Given the description of an element on the screen output the (x, y) to click on. 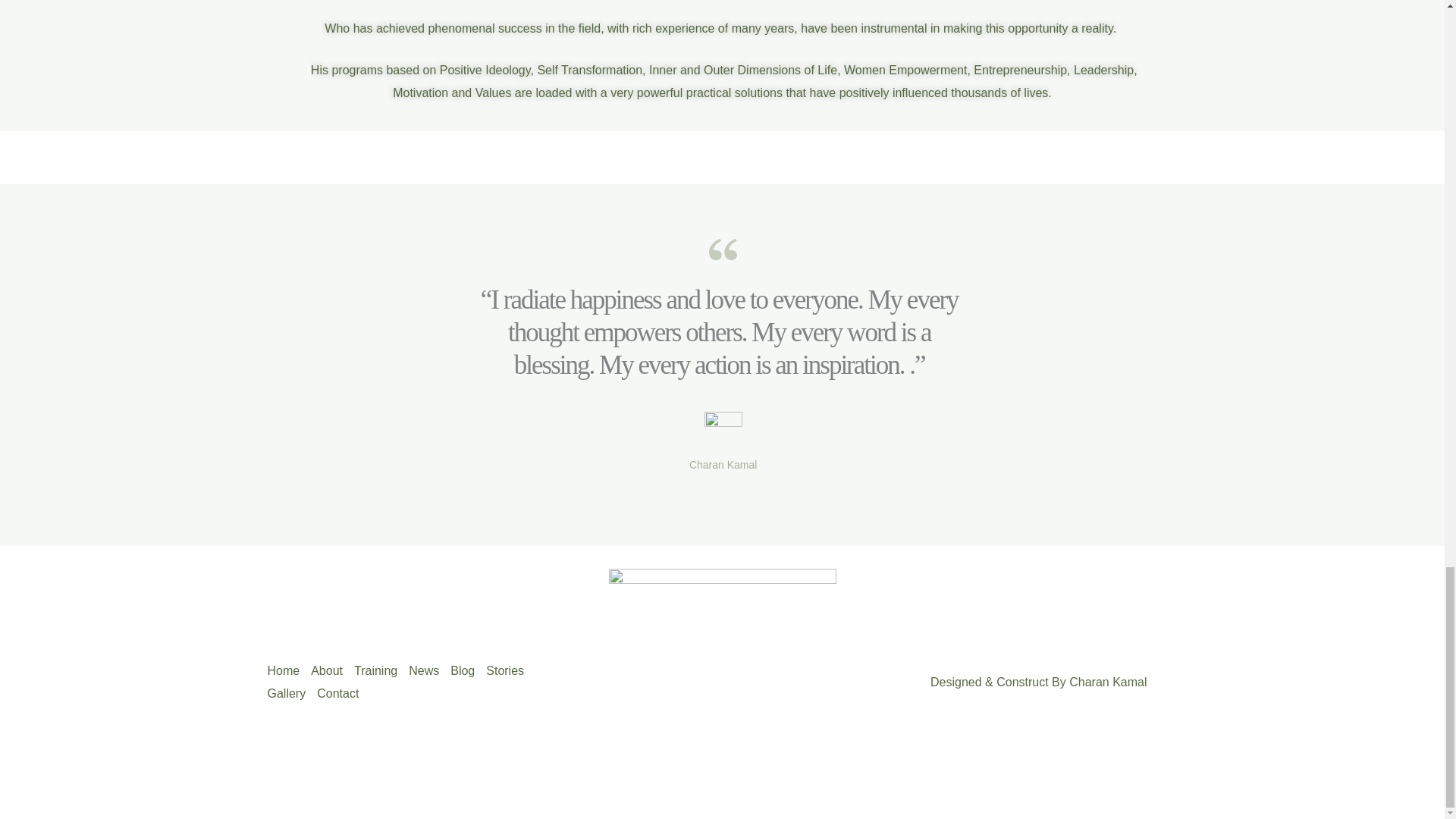
About (332, 671)
Home (288, 671)
Stories (510, 671)
Contact (343, 693)
Gallery (291, 693)
News (429, 671)
Training (381, 671)
Blog (467, 671)
